Given the description of an element on the screen output the (x, y) to click on. 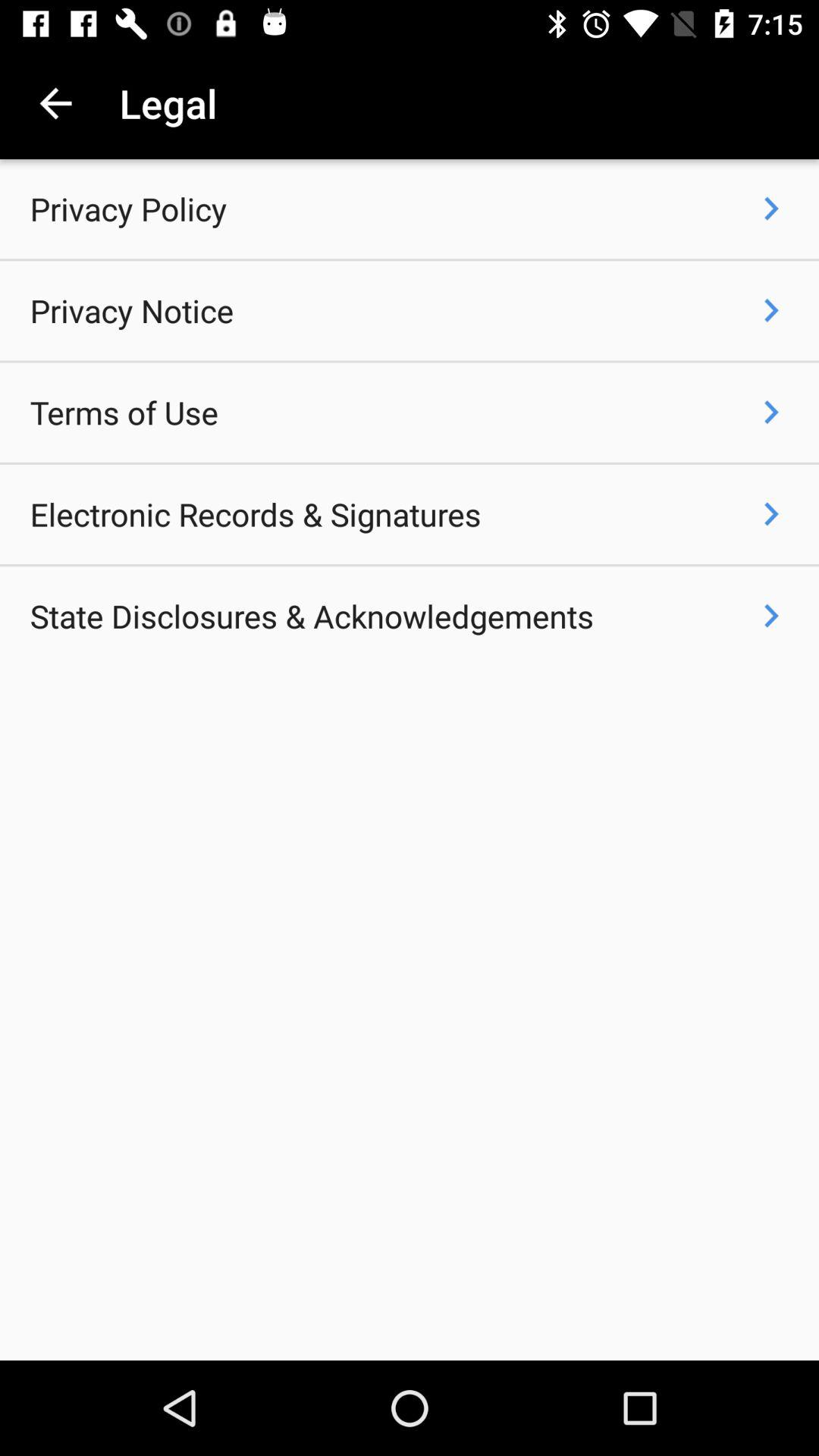
tap item below electronic records & signatures item (311, 616)
